Given the description of an element on the screen output the (x, y) to click on. 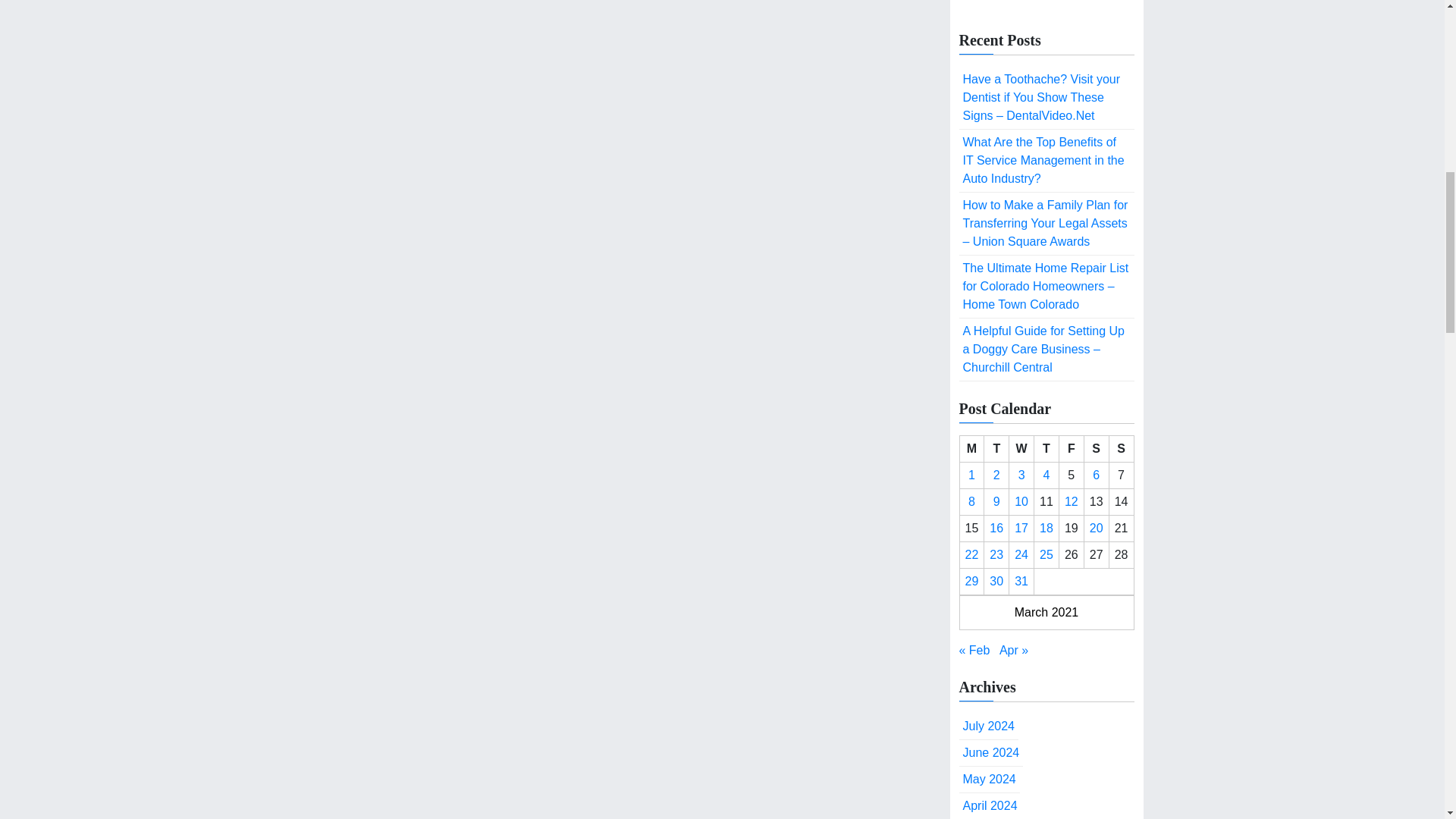
Saturday (1095, 447)
2 (996, 474)
1 (971, 474)
3 (1021, 474)
12 (1071, 501)
Thursday (1046, 447)
18 (1045, 527)
10 (1020, 501)
Friday (1070, 447)
20 (1096, 527)
6 (1096, 474)
4 (1046, 474)
Monday (971, 447)
Wednesday (1021, 447)
